Given the description of an element on the screen output the (x, y) to click on. 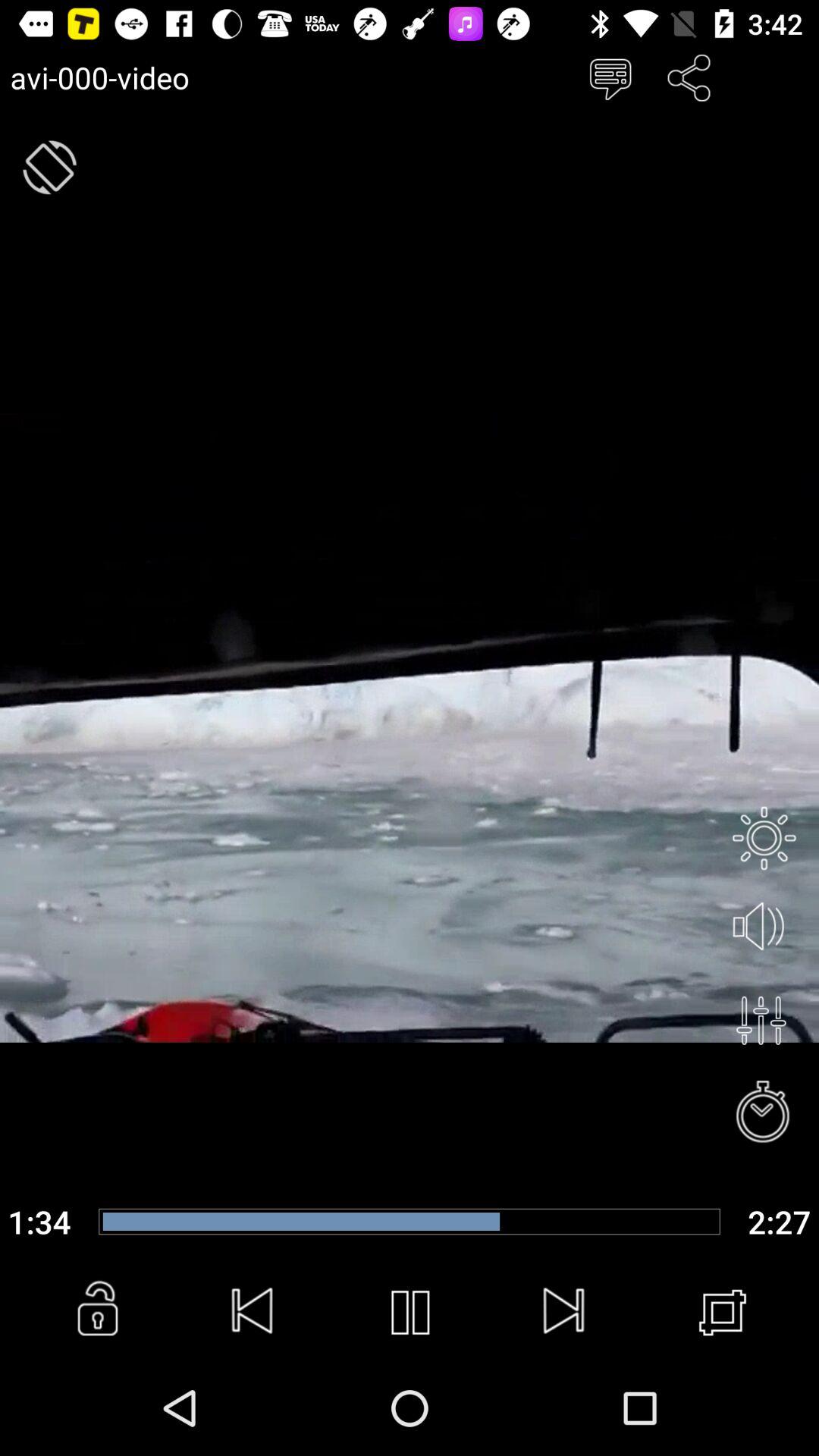
select the share icon (689, 77)
click on volume symbol (764, 927)
click on forward button (564, 1312)
click on the timer icon (764, 1113)
select the icon left to share on top (609, 77)
click on the brightness icon (764, 837)
click on time 134 at bottom left (39, 1221)
click on button below volume button (761, 1020)
select the last time for the the video (779, 1221)
